Given the description of an element on the screen output the (x, y) to click on. 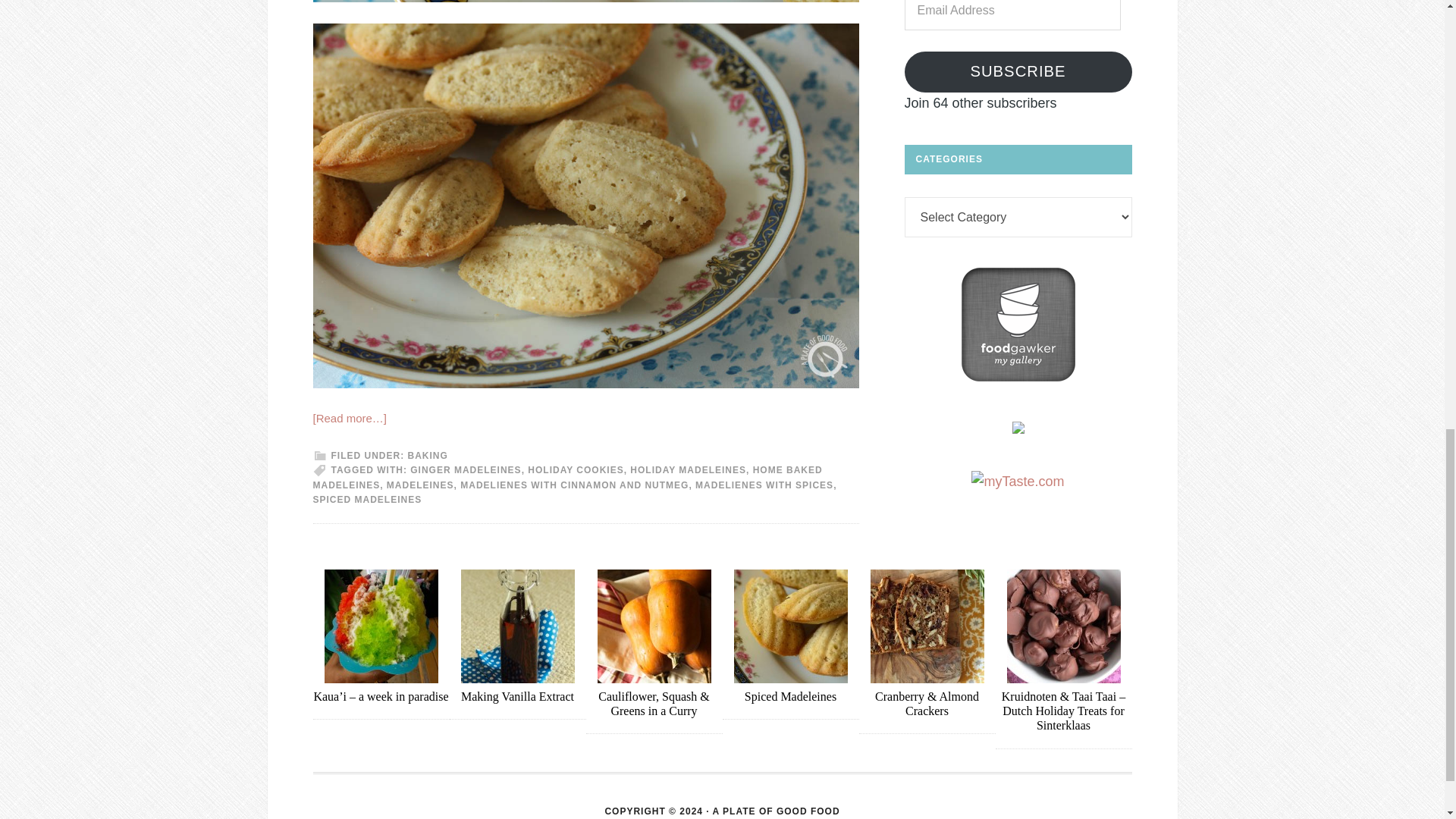
MADELEINES (420, 484)
Making Vanilla Extract (517, 696)
HOLIDAY COOKIES (575, 470)
HOME BAKED MADELEINES (567, 477)
Spiced Madeleines (789, 696)
HOLIDAY MADELEINES (687, 470)
MADELIENES WITH SPICES (763, 484)
SPICED MADELEINES (367, 499)
GINGER MADELEINES (465, 470)
SUBSCRIBE (1017, 71)
